Given the description of an element on the screen output the (x, y) to click on. 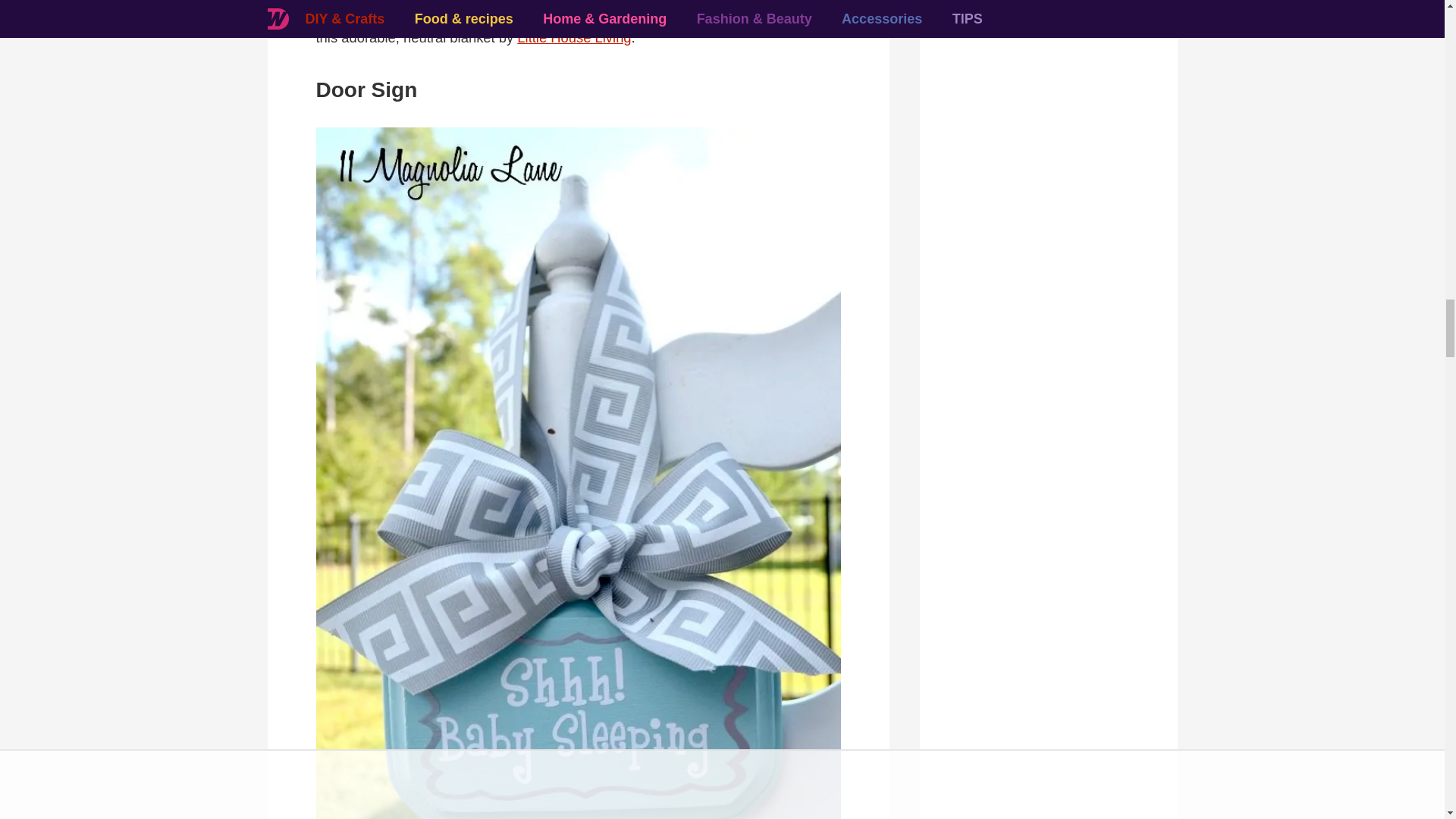
Little House Living (573, 37)
